Given the description of an element on the screen output the (x, y) to click on. 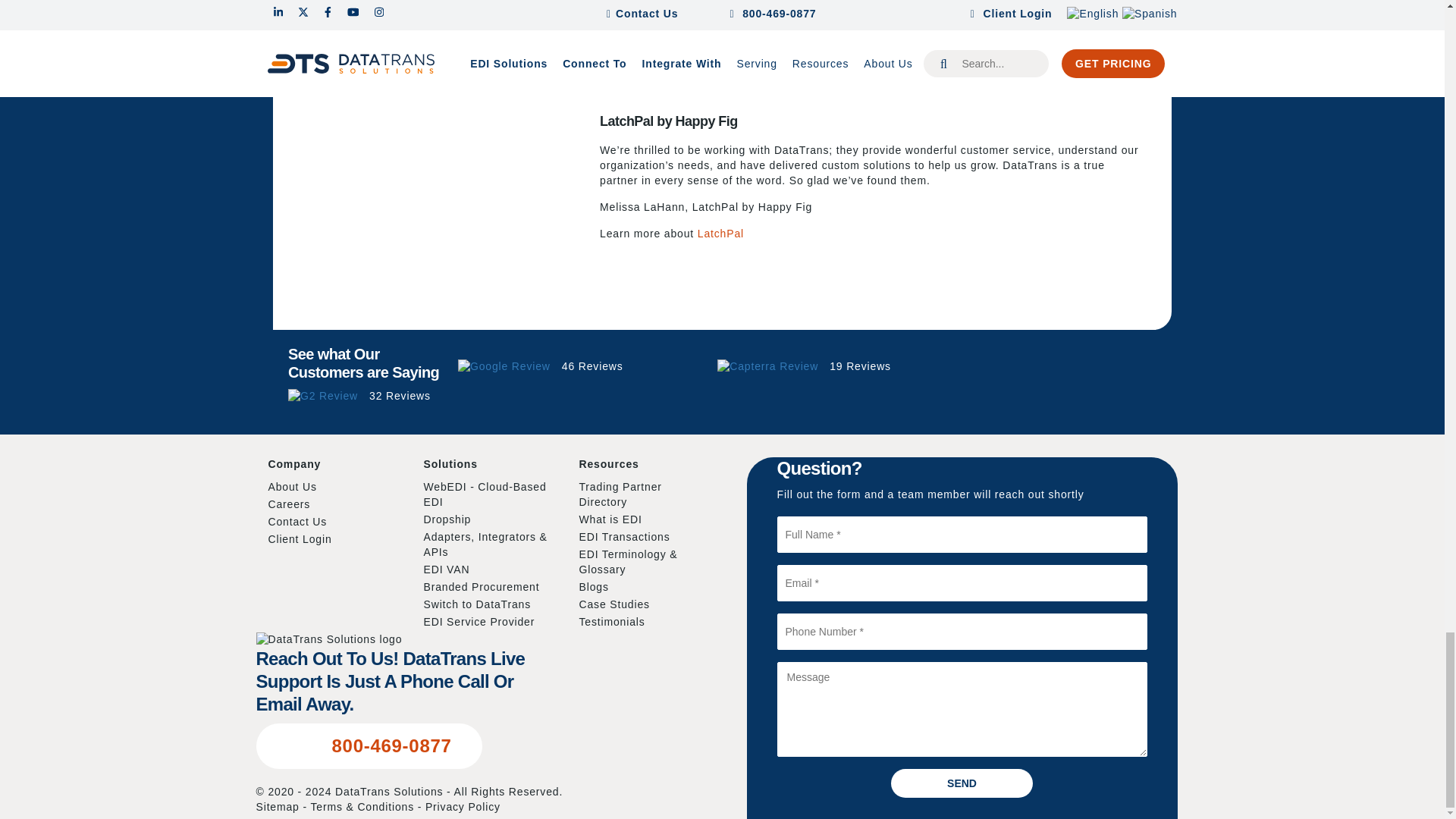
send (961, 783)
